Given the description of an element on the screen output the (x, y) to click on. 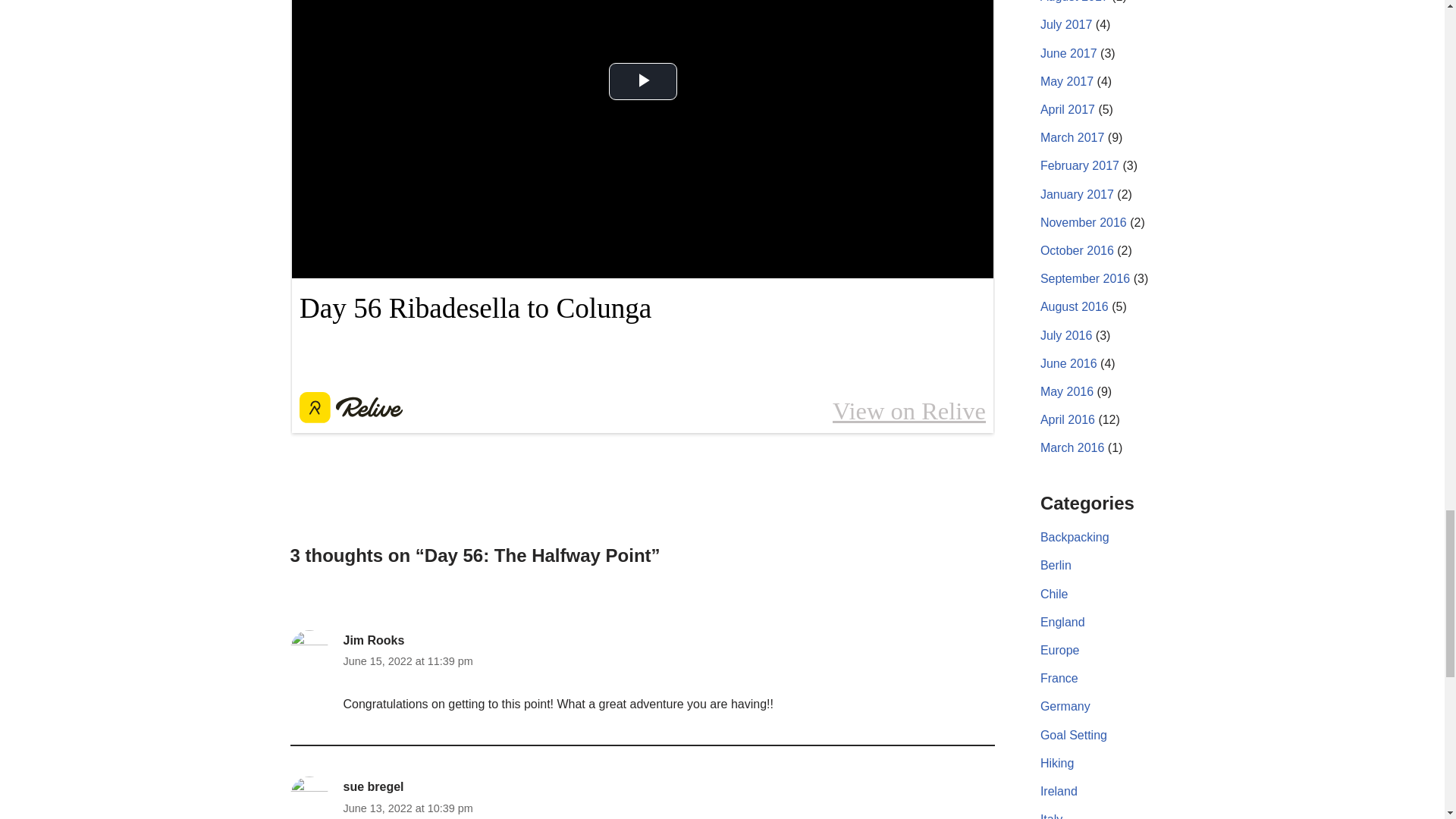
June 15, 2022 at 11:39 pm (406, 660)
June 13, 2022 at 10:39 pm (406, 807)
